Given the description of an element on the screen output the (x, y) to click on. 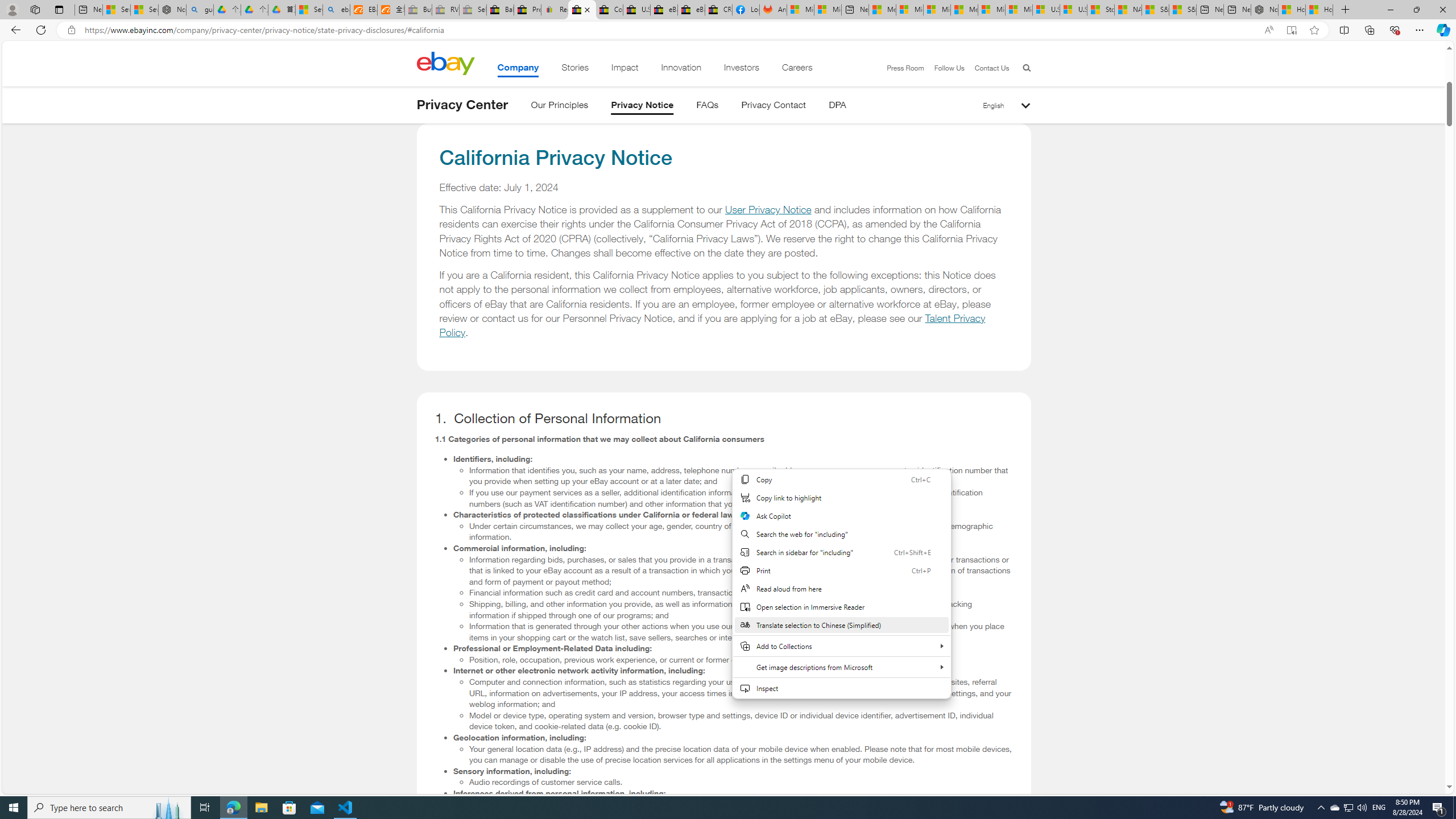
Consumer Health Data Privacy Policy - eBay Inc. (609, 9)
Web context (841, 590)
Web context (841, 583)
Translate selection to Chinese (Simplified) (841, 624)
